Given the description of an element on the screen output the (x, y) to click on. 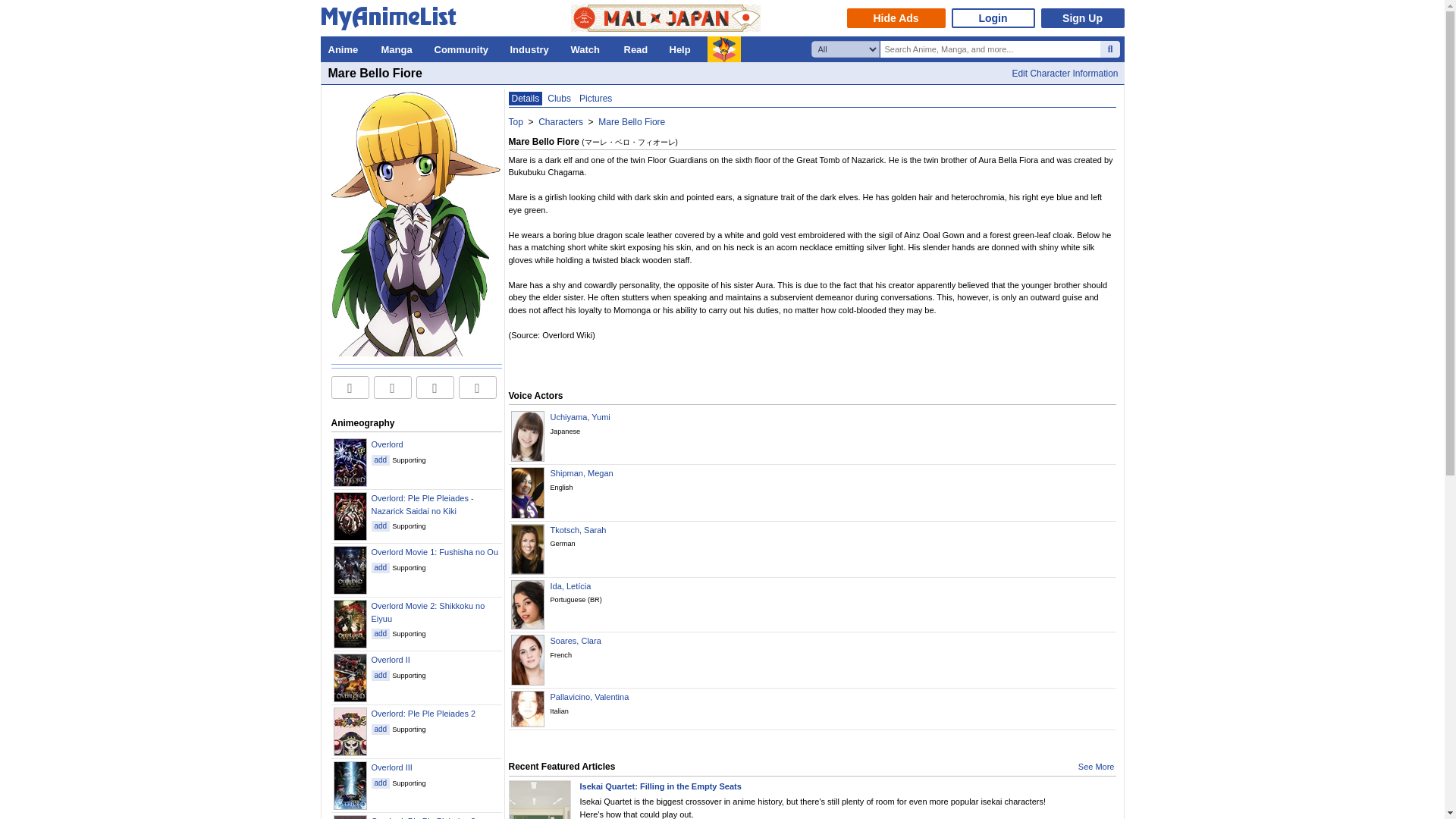
Read (638, 49)
Hide Ads (894, 17)
Anime (346, 49)
Industry (532, 49)
Isekai Quartet: Filling in the Empty Seats (660, 786)
Login (991, 17)
Manga (399, 49)
MyAnimeList.net (392, 21)
Watch (588, 49)
Community (464, 49)
